Given the description of an element on the screen output the (x, y) to click on. 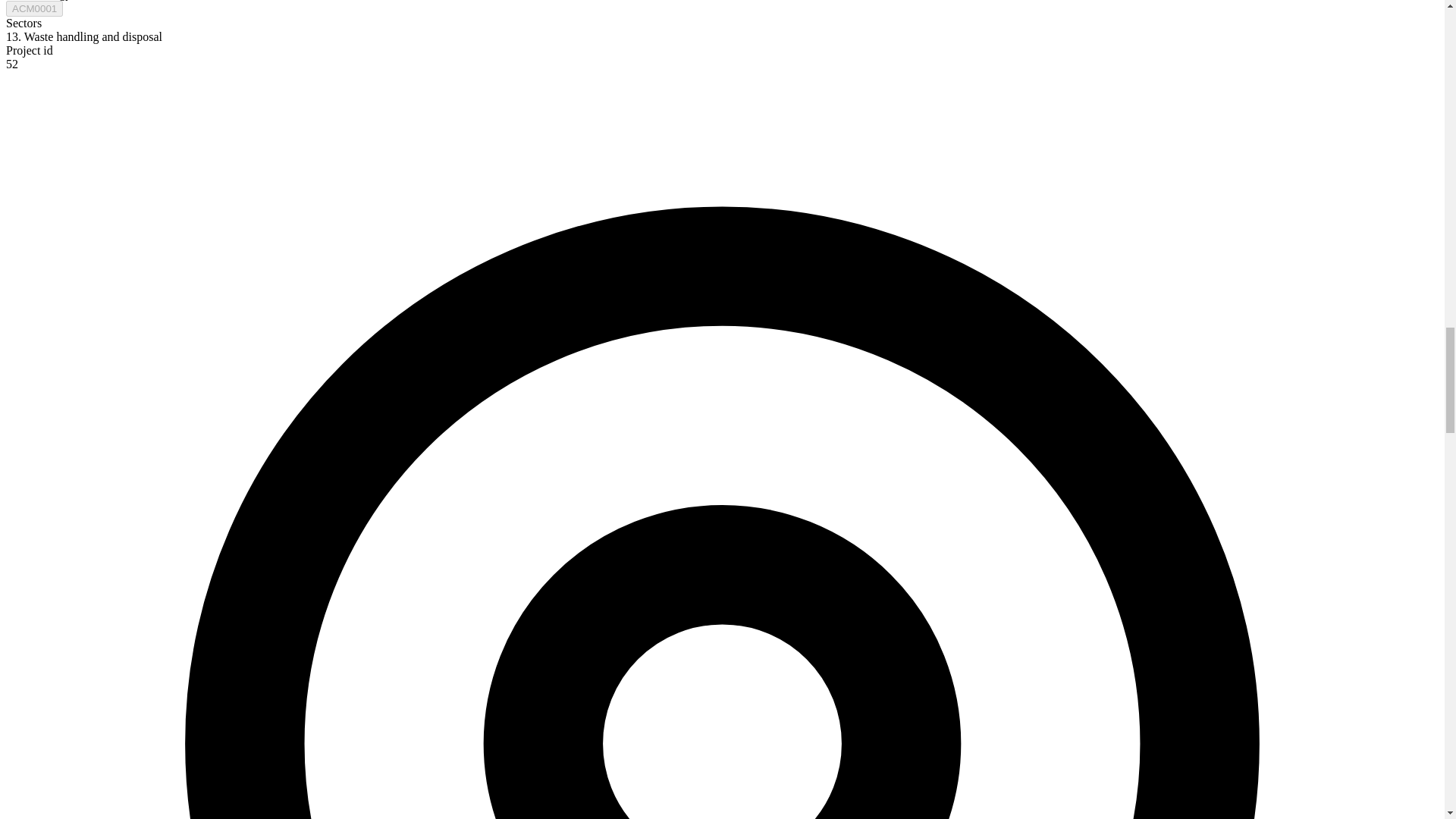
Cookie Policy (983, 748)
Guides (753, 717)
Pricing (540, 717)
Help Center (765, 687)
About (324, 687)
Terms of Service (991, 687)
Privacy Policy (984, 717)
Subscribe (637, 470)
privacy policy. (488, 493)
Contact us (337, 717)
Explore (541, 687)
FAQs (748, 748)
